Given the description of an element on the screen output the (x, y) to click on. 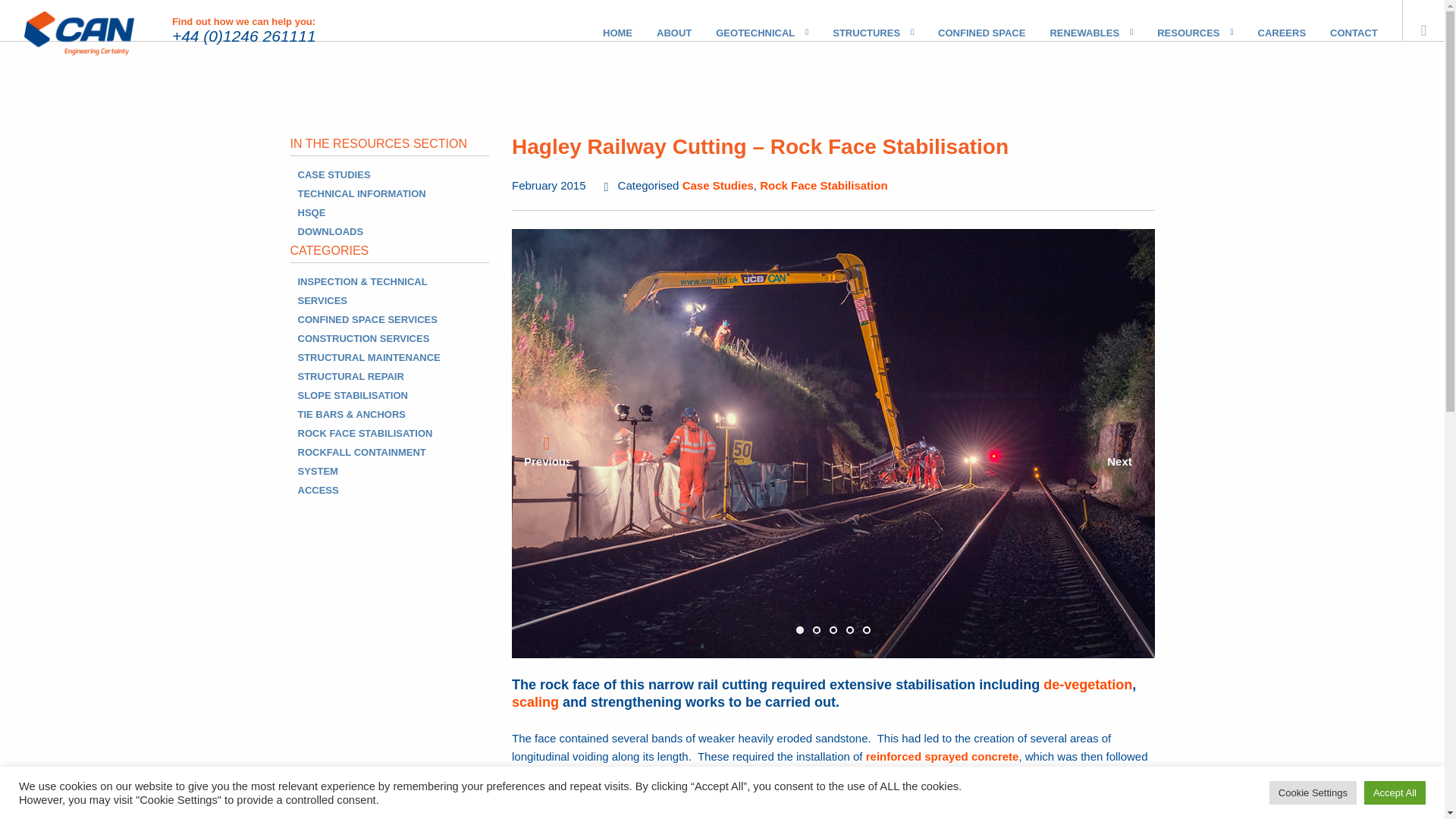
ROCK FACE STABILISATION (364, 432)
SLOPE STABILISATION (352, 395)
TECHNICAL INFORMATION (361, 193)
RESOURCES (1188, 21)
CONFINED SPACE (981, 21)
STRUCTURAL REPAIR (350, 376)
CONFINED SPACE SERVICES (366, 319)
HSQE (310, 212)
GEOTECHNICAL (755, 21)
DOWNLOADS (329, 231)
STRUCTURAL MAINTENANCE (368, 357)
STRUCTURES (865, 21)
RENEWABLES (1084, 21)
ROCKFALL CONTAINMENT SYSTEM (361, 461)
CAREERS (1281, 21)
